Given the description of an element on the screen output the (x, y) to click on. 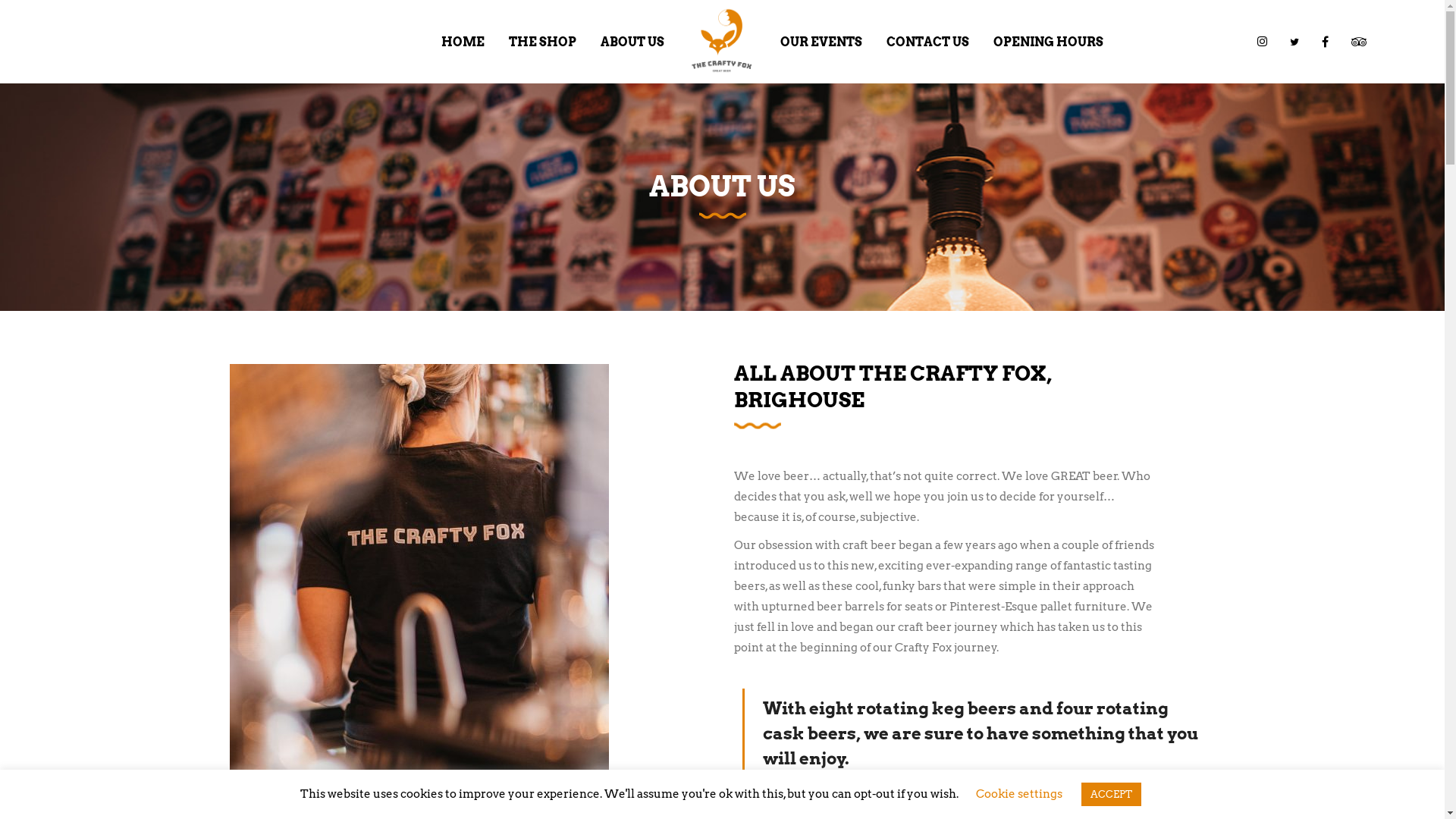
THE SHOP Element type: text (542, 41)
CONTACT US Element type: text (927, 41)
OUR EVENTS Element type: text (821, 41)
Cookie settings Element type: text (1018, 793)
ACCEPT Element type: text (1111, 794)
ABOUT US Element type: text (632, 41)
HOME Element type: text (462, 41)
OPENING HOURS Element type: text (1048, 41)
